Given the description of an element on the screen output the (x, y) to click on. 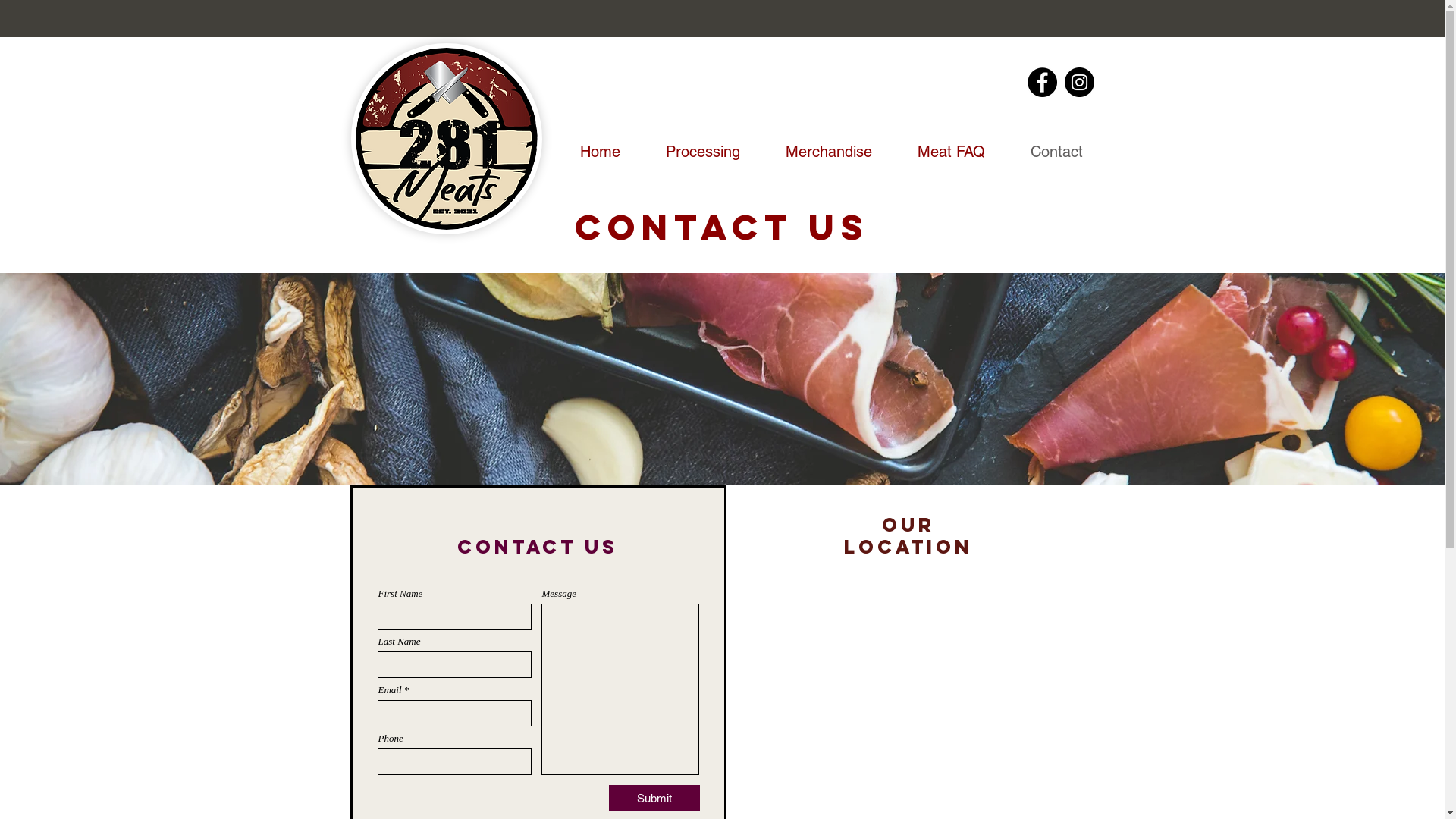
Submit Element type: text (653, 797)
Merchandise Element type: text (816, 151)
Processing Element type: text (690, 151)
Home Element type: text (588, 151)
Contact Element type: text (1045, 151)
Meat FAQ Element type: text (938, 151)
